Given the description of an element on the screen output the (x, y) to click on. 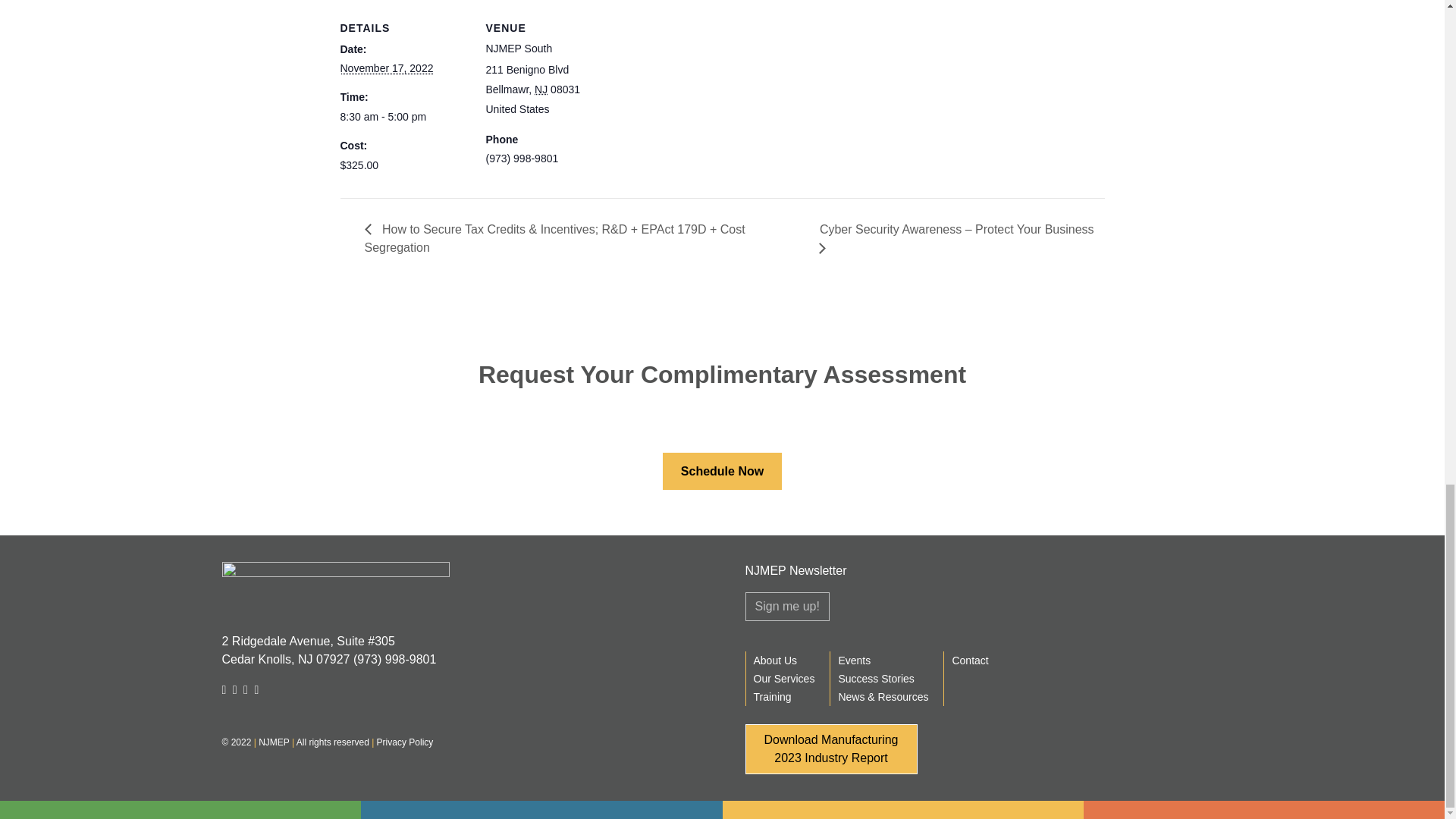
2022-11-17 (403, 116)
New Jersey (540, 89)
2022-11-17 (385, 68)
